Given the description of an element on the screen output the (x, y) to click on. 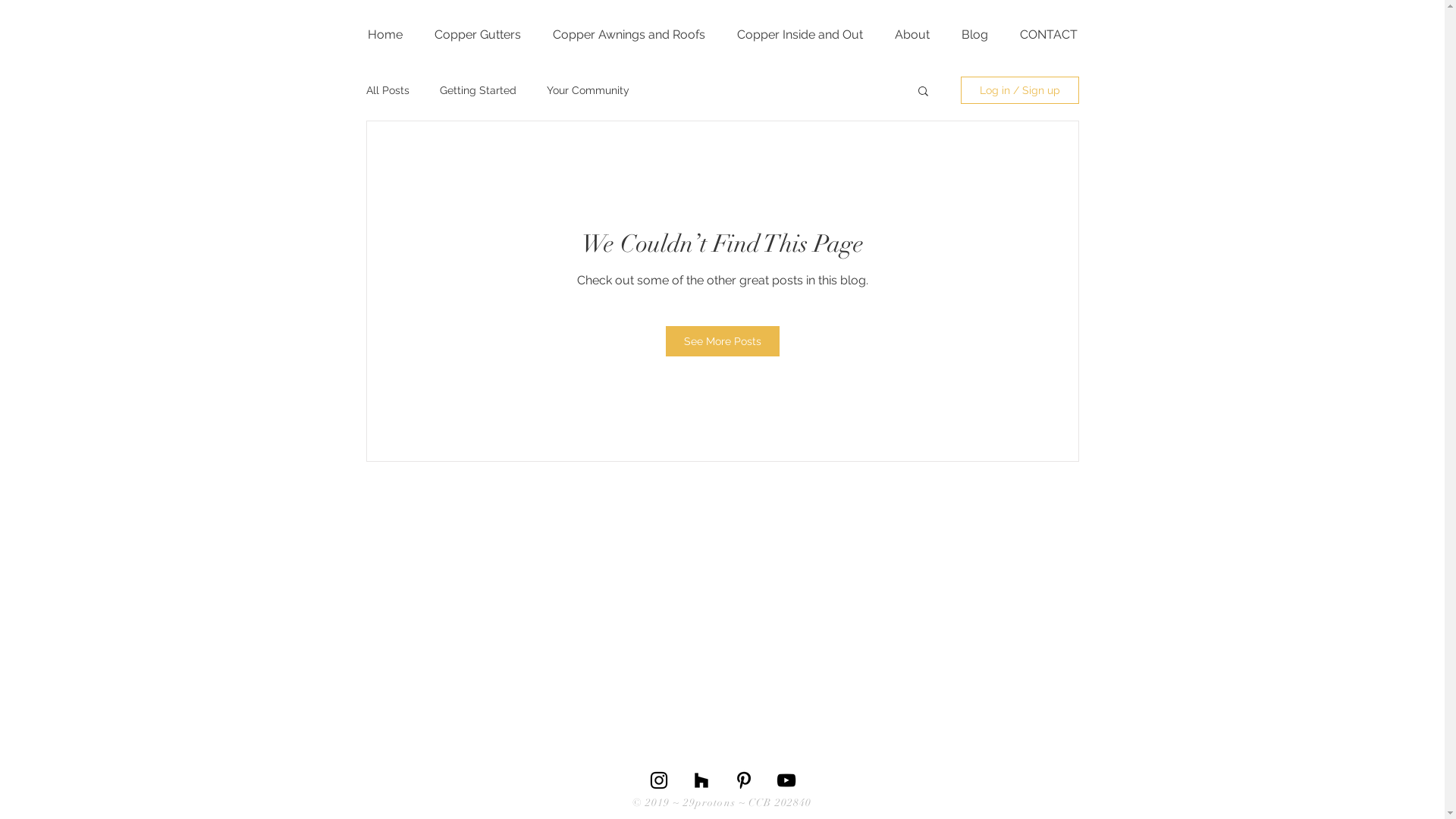
About Element type: text (911, 34)
Log in / Sign up Element type: text (1019, 89)
Getting Started Element type: text (477, 90)
Copper Awnings and Roofs Element type: text (628, 34)
All Posts Element type: text (386, 90)
Copper Inside and Out Element type: text (799, 34)
See More Posts Element type: text (722, 341)
Copper Gutters Element type: text (477, 34)
CONTACT Element type: text (1048, 34)
Blog Element type: text (974, 34)
Home Element type: text (384, 34)
Your Community Element type: text (587, 90)
